Given the description of an element on the screen output the (x, y) to click on. 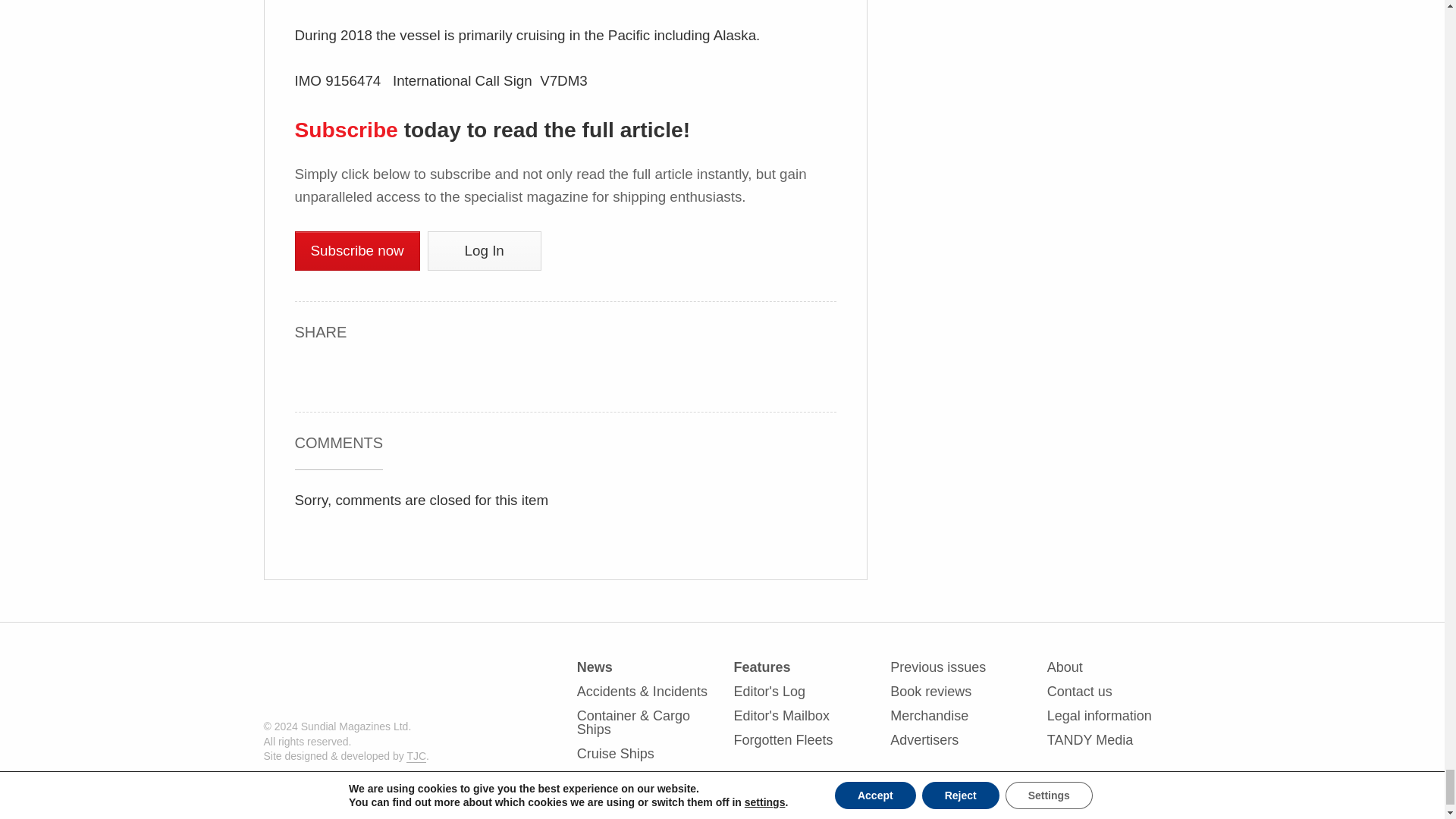
Share on Twitter (379, 373)
Subscribe now (356, 250)
Subscribe (345, 129)
Share on LinkedIn (344, 373)
Share on Facebook (307, 373)
Twitter (379, 371)
Log In (484, 250)
LinkedIn (344, 371)
Facebook (307, 371)
